Given the description of an element on the screen output the (x, y) to click on. 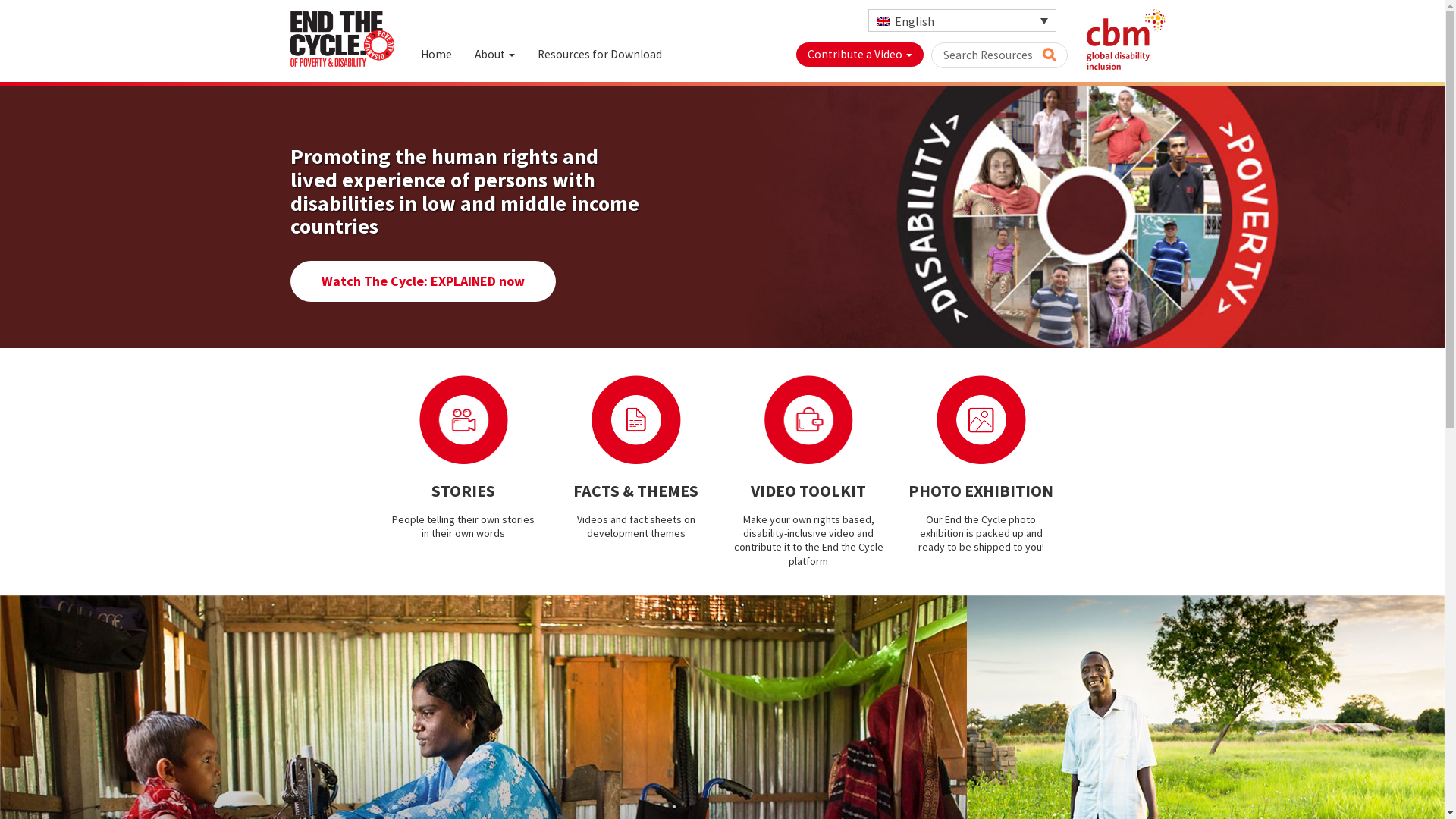
Contribute a Video Element type: text (859, 54)
STORIES
People telling their own stories in their own words Element type: text (463, 457)
FACTS & THEMES
Videos and fact sheets on development themes Element type: text (635, 457)
Watch The Cycle: EXPLAINED now Element type: text (422, 280)
Search Resources Element type: hover (1047, 53)
Resources for Download Element type: text (599, 54)
About Element type: text (493, 54)
Search Resources Element type: text (999, 55)
Home Element type: text (436, 54)
English Element type: text (961, 20)
